Given the description of an element on the screen output the (x, y) to click on. 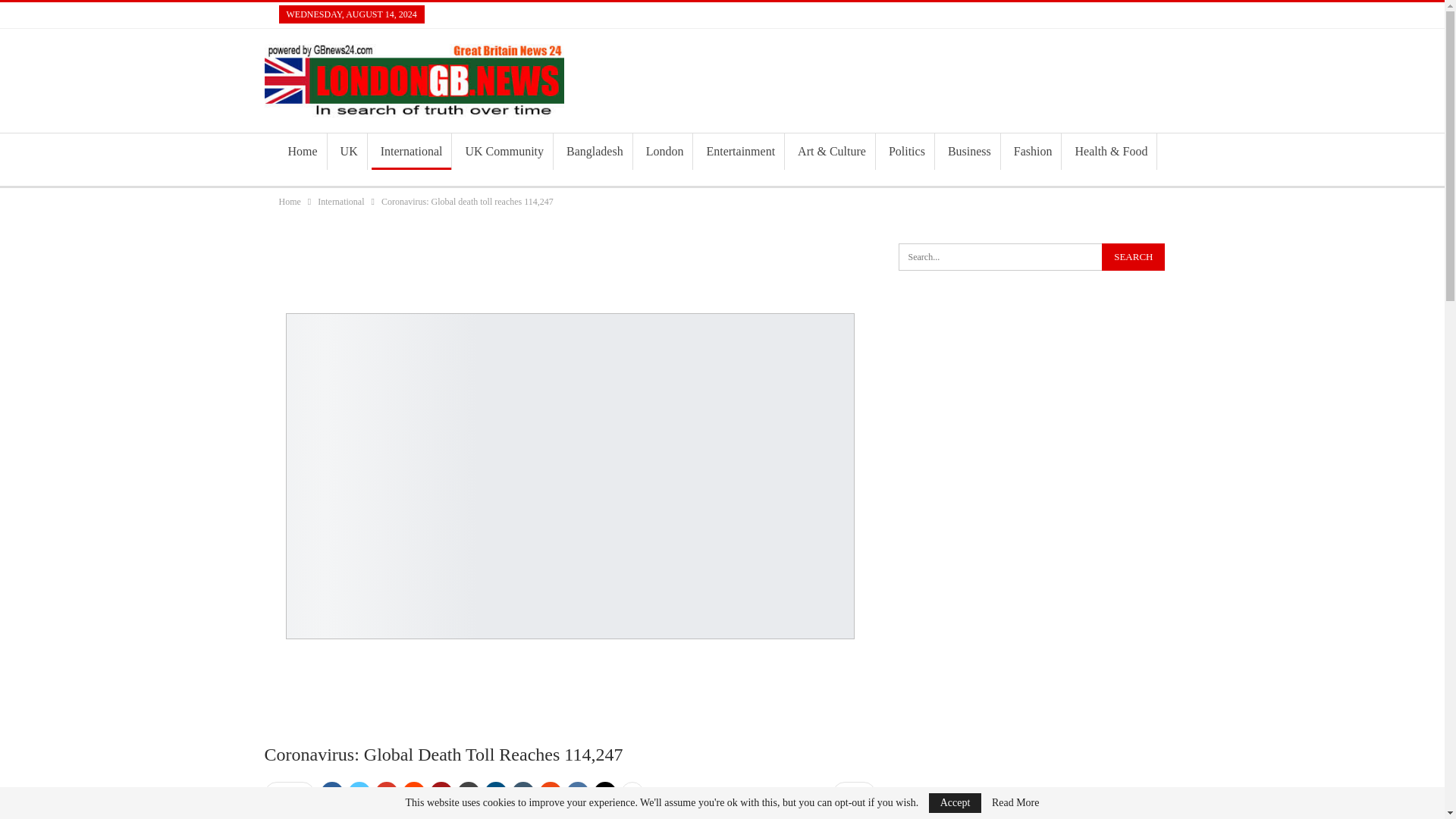
Search (1133, 257)
Home (290, 201)
Home (302, 151)
Search (1133, 257)
Bangladesh (594, 151)
UK (348, 151)
Politics (906, 151)
Business (969, 151)
London (665, 151)
International (340, 201)
